Given the description of an element on the screen output the (x, y) to click on. 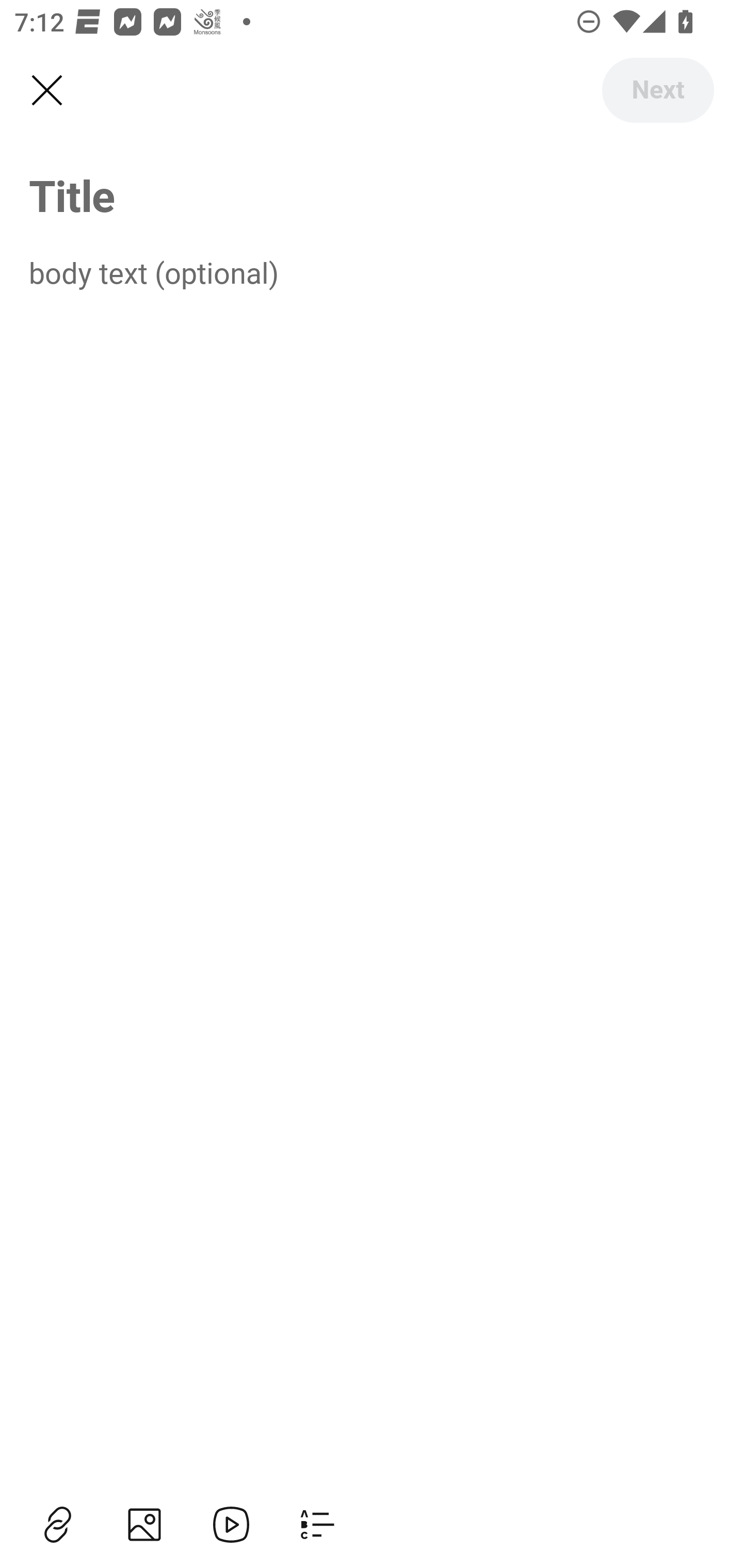
Close (46, 90)
Next (657, 90)
Post title (371, 195)
body text (optional) (371, 271)
